Given the description of an element on the screen output the (x, y) to click on. 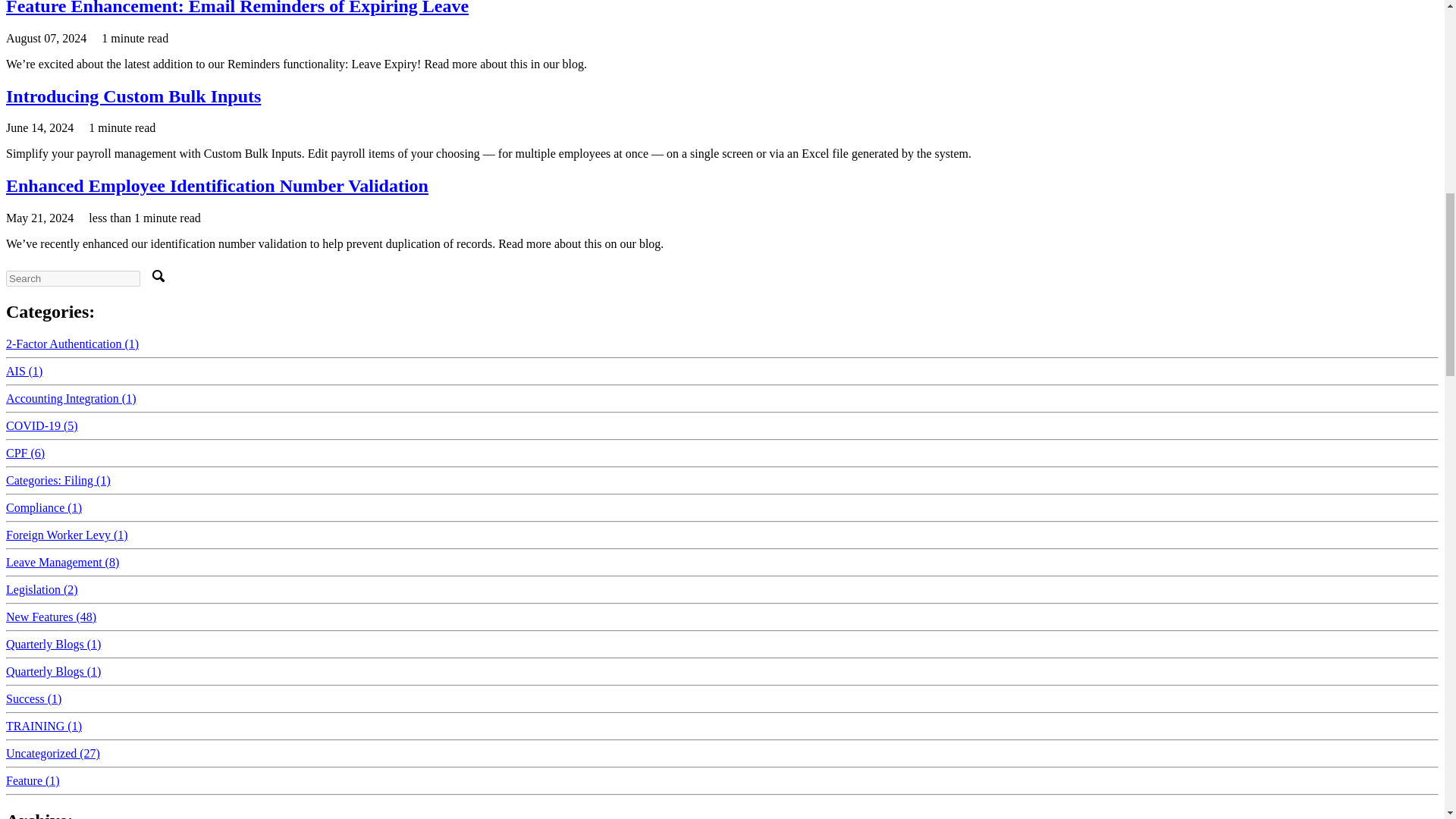
Feature Enhancement: Email Reminders of Expiring Leave (236, 7)
Introducing Custom Bulk Inputs (132, 96)
Enhanced Employee Identification Number Validation (216, 185)
